Given the description of an element on the screen output the (x, y) to click on. 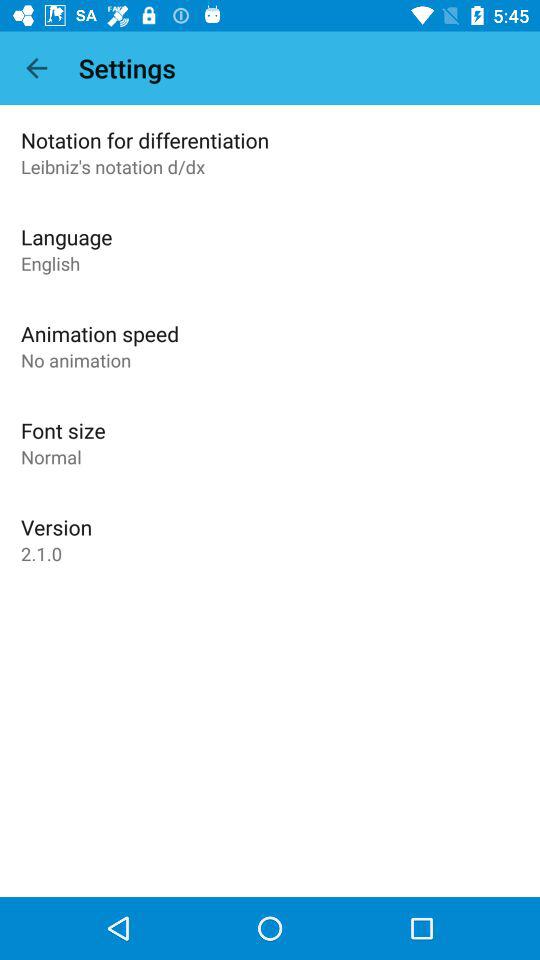
choose the item below the language (50, 263)
